Given the description of an element on the screen output the (x, y) to click on. 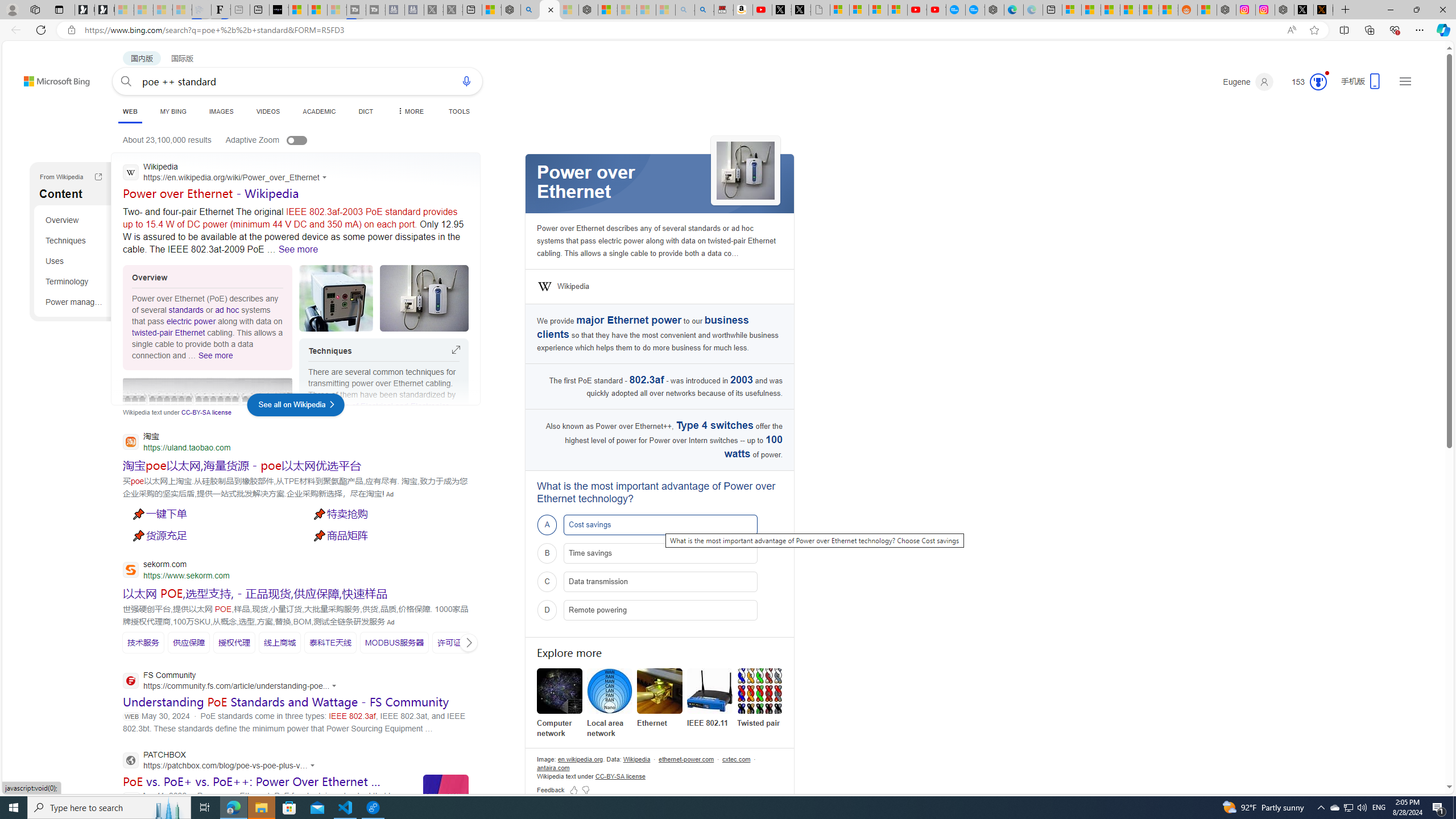
From Wikipedia (97, 176)
Shanghai, China Weather trends | Microsoft Weather (1168, 9)
Amazon Echo Dot PNG - Search Images (704, 9)
Feedback Dislike (584, 789)
Power management features and integration (74, 301)
Twisted pair (759, 698)
Settings and quick links (1404, 80)
Data attribution antaira.com (553, 767)
DICT (365, 111)
